Given the description of an element on the screen output the (x, y) to click on. 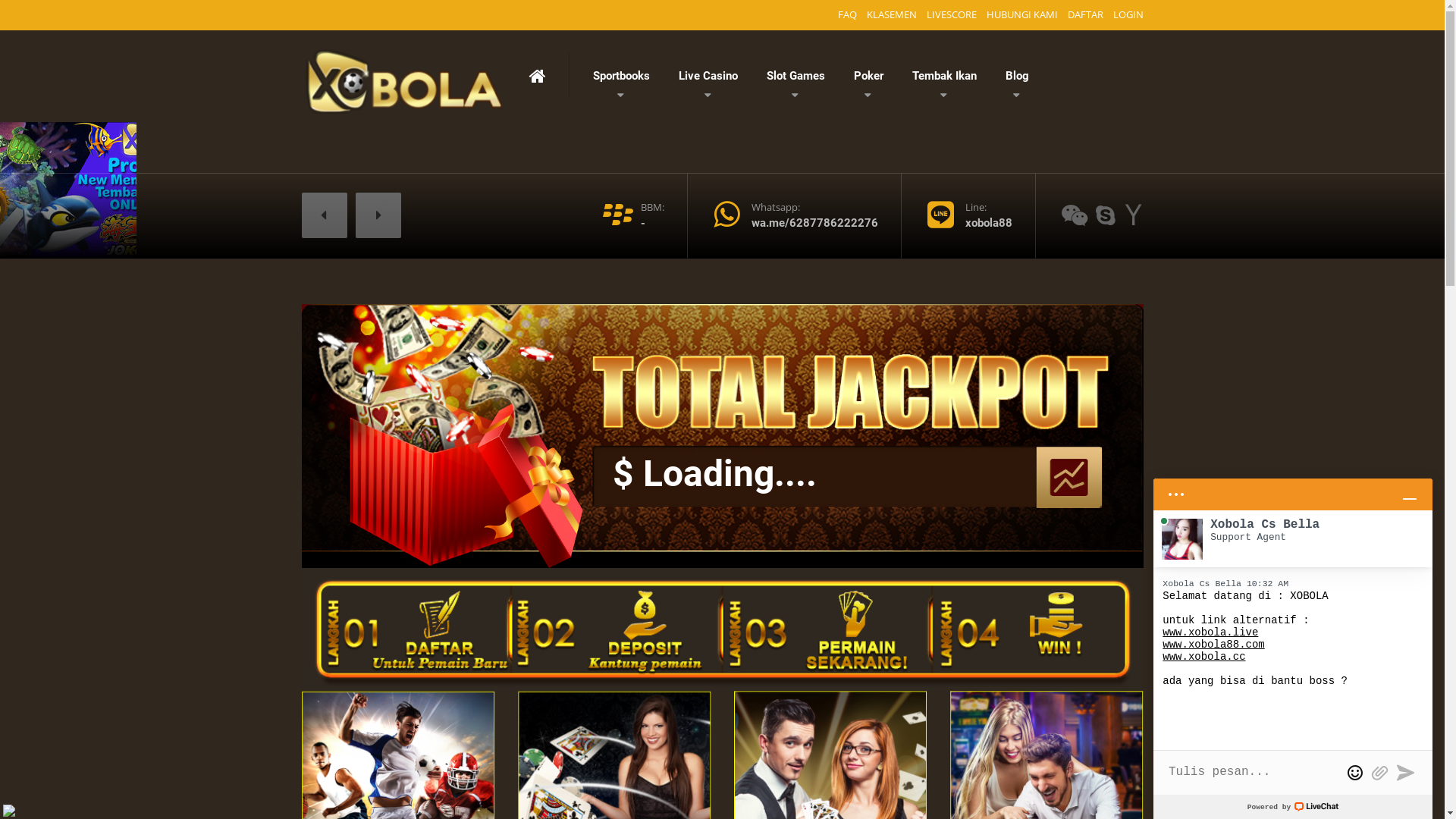
FAQ Element type: text (847, 15)
Live Casino Element type: text (708, 75)
xobola Element type: hover (1104, 215)
DAFTAR Element type: text (1084, 15)
LOGIN Element type: text (1125, 15)
KLASEMEN Element type: text (891, 15)
+855-9752-45957 Element type: hover (1074, 215)
xobola@yahoo.com Element type: hover (1133, 215)
HUBUNGI KAMI Element type: text (1021, 15)
LIVESCORE Element type: text (950, 15)
Poker Element type: text (867, 75)
Sportbooks Element type: text (620, 75)
Blog Element type: text (1016, 75)
Slot Games Element type: text (795, 75)
Tembak Ikan Element type: text (944, 75)
